Given the description of an element on the screen output the (x, y) to click on. 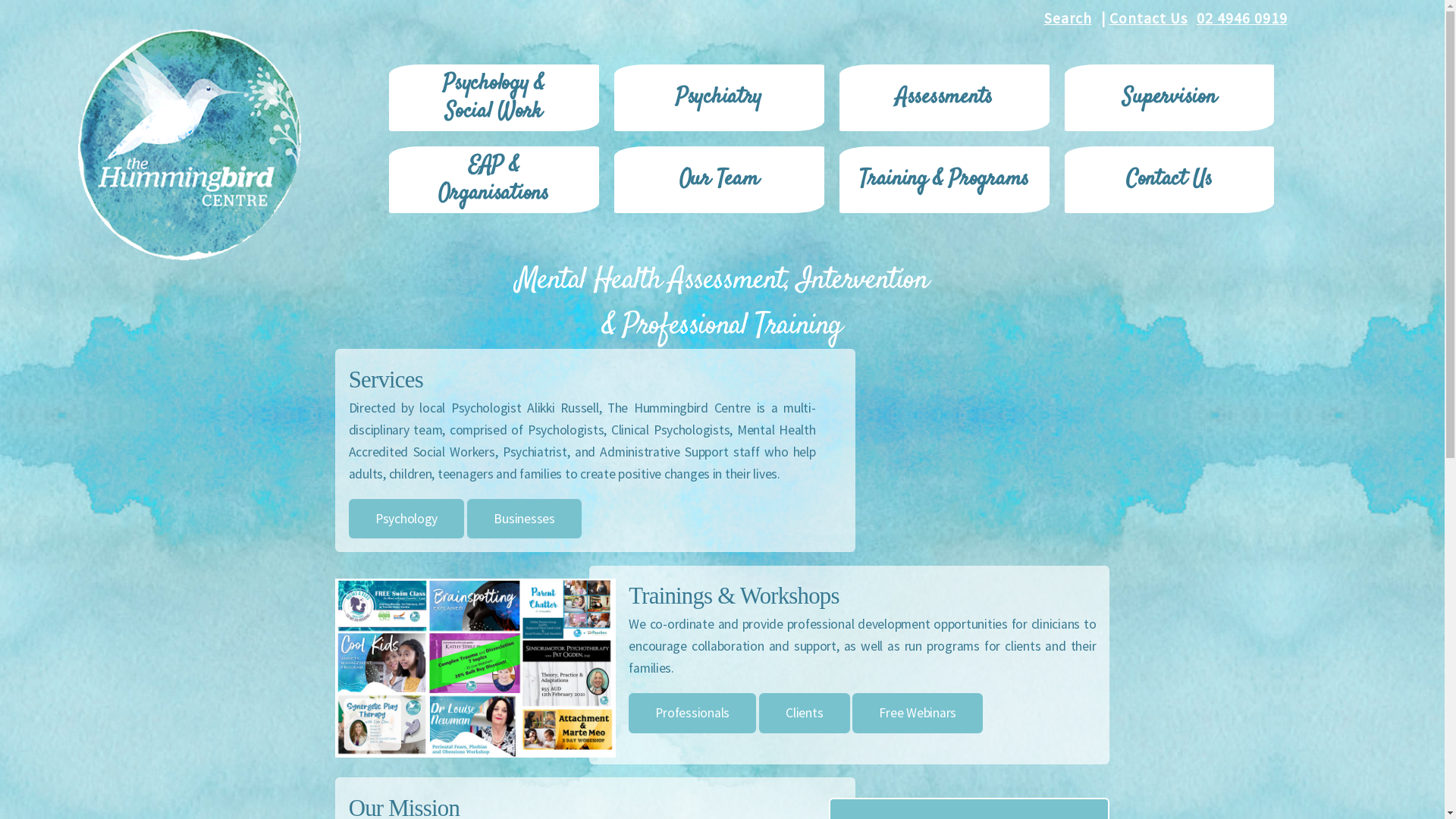
Clients Element type: text (804, 713)
Assessments Element type: text (944, 97)
Free Webinars Element type: text (917, 713)
Psychology Element type: text (406, 518)
Psychiatry Element type: text (719, 97)
Professionals Element type: text (692, 713)
About The Hummingbird Centre Element type: hover (968, 448)
Contact Us Element type: text (1169, 179)
EAP &
Organisations Element type: text (494, 179)
Supervision Element type: text (1169, 97)
Psychology &
Social Work Element type: text (494, 97)
Contact Us Element type: text (1150, 18)
02 4946 0919 Element type: text (1244, 18)
Our Team Element type: text (719, 179)
Businesses Element type: text (524, 518)
Training & Programs Element type: text (944, 179)
Search Element type: text (1069, 18)
